Given the description of an element on the screen output the (x, y) to click on. 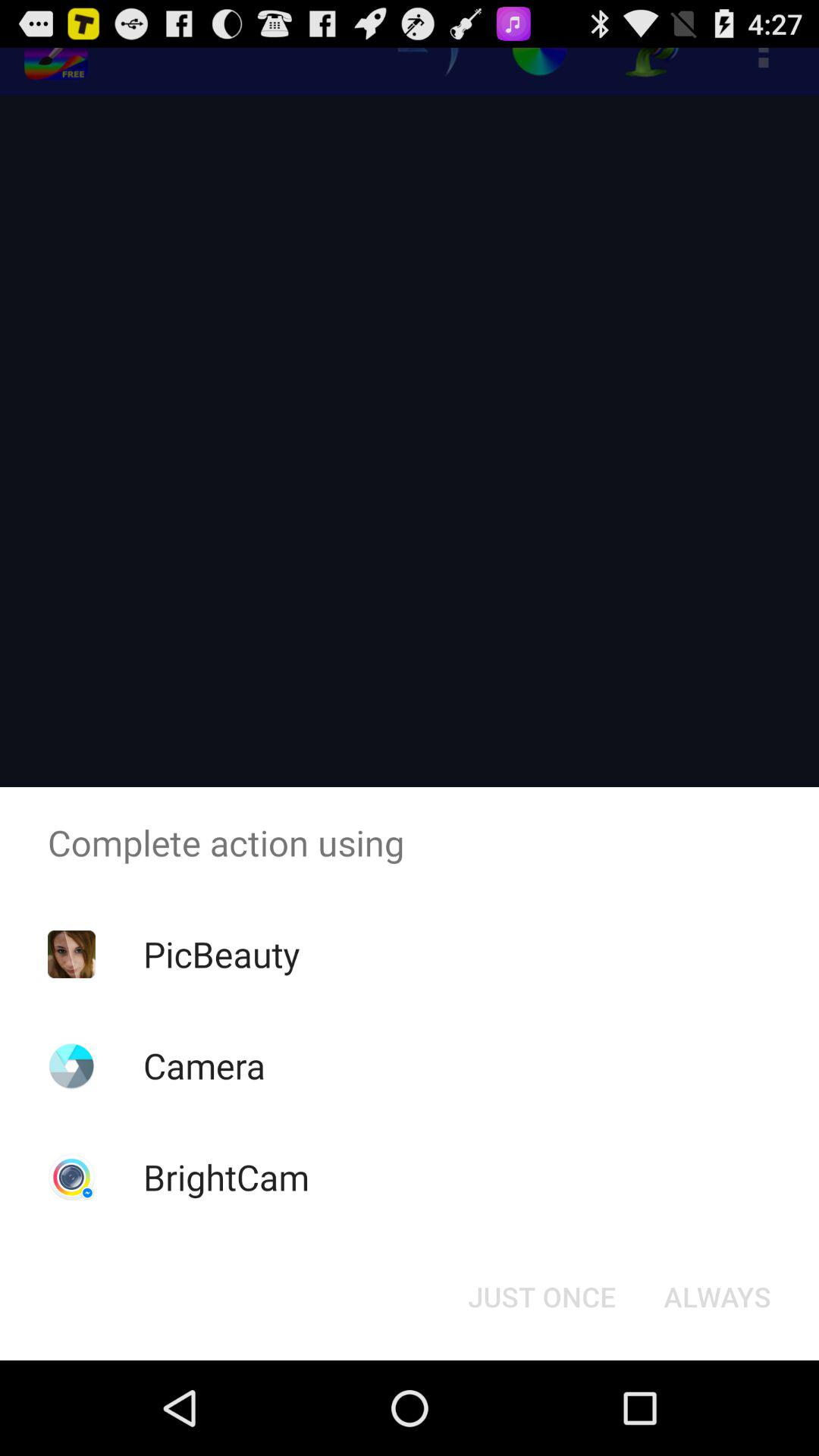
select the app below the camera icon (226, 1176)
